Given the description of an element on the screen output the (x, y) to click on. 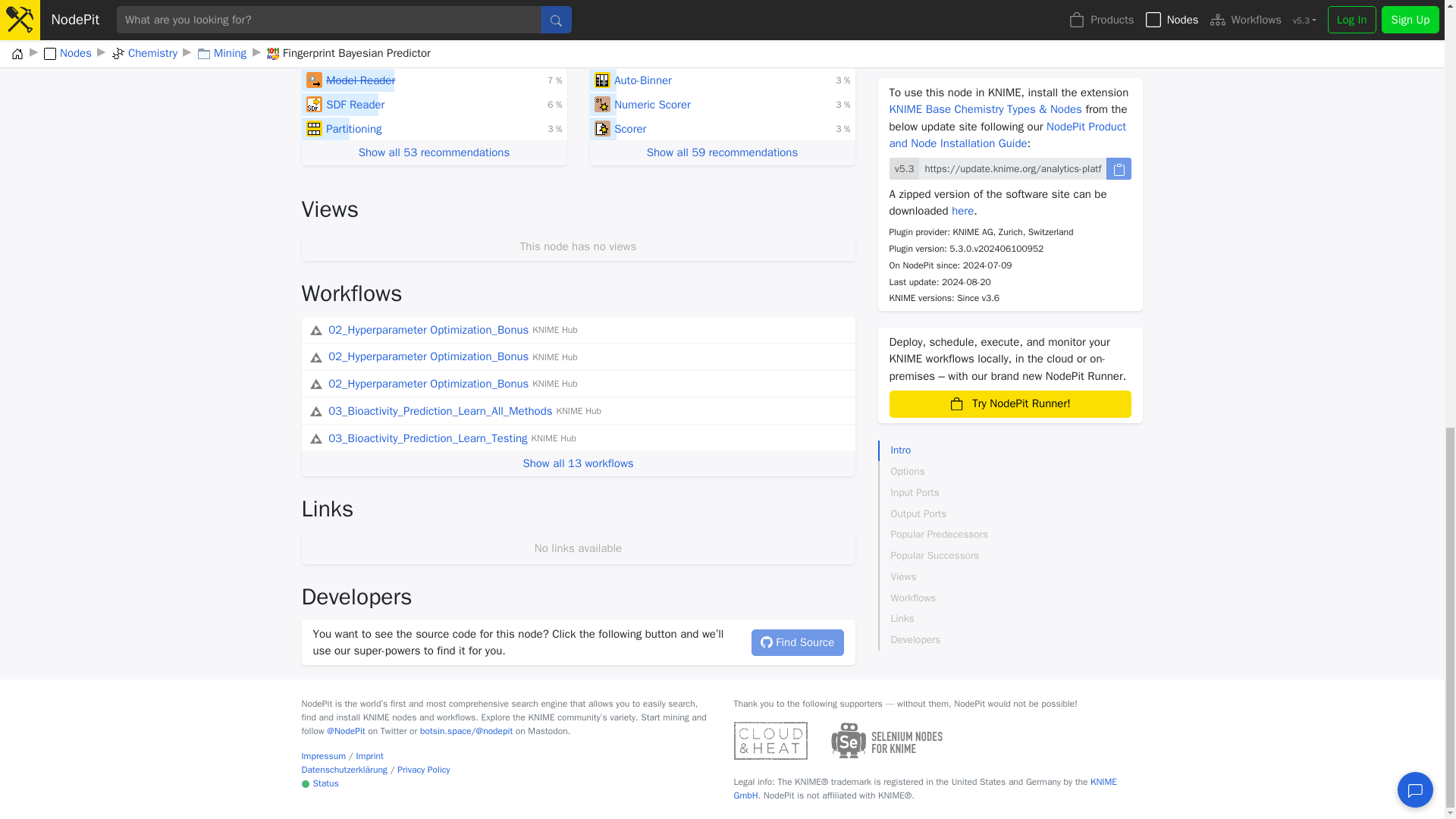
Absolute count: 14 x (554, 56)
Absolute count: 6 x (554, 128)
LoopStart (314, 55)
Absolute count: 34 x (551, 31)
Source (314, 80)
Other (602, 31)
Learner (314, 31)
Absolute count: 10 x (842, 56)
LoopEnd (602, 55)
Absolute count: 12 x (554, 79)
